Given the description of an element on the screen output the (x, y) to click on. 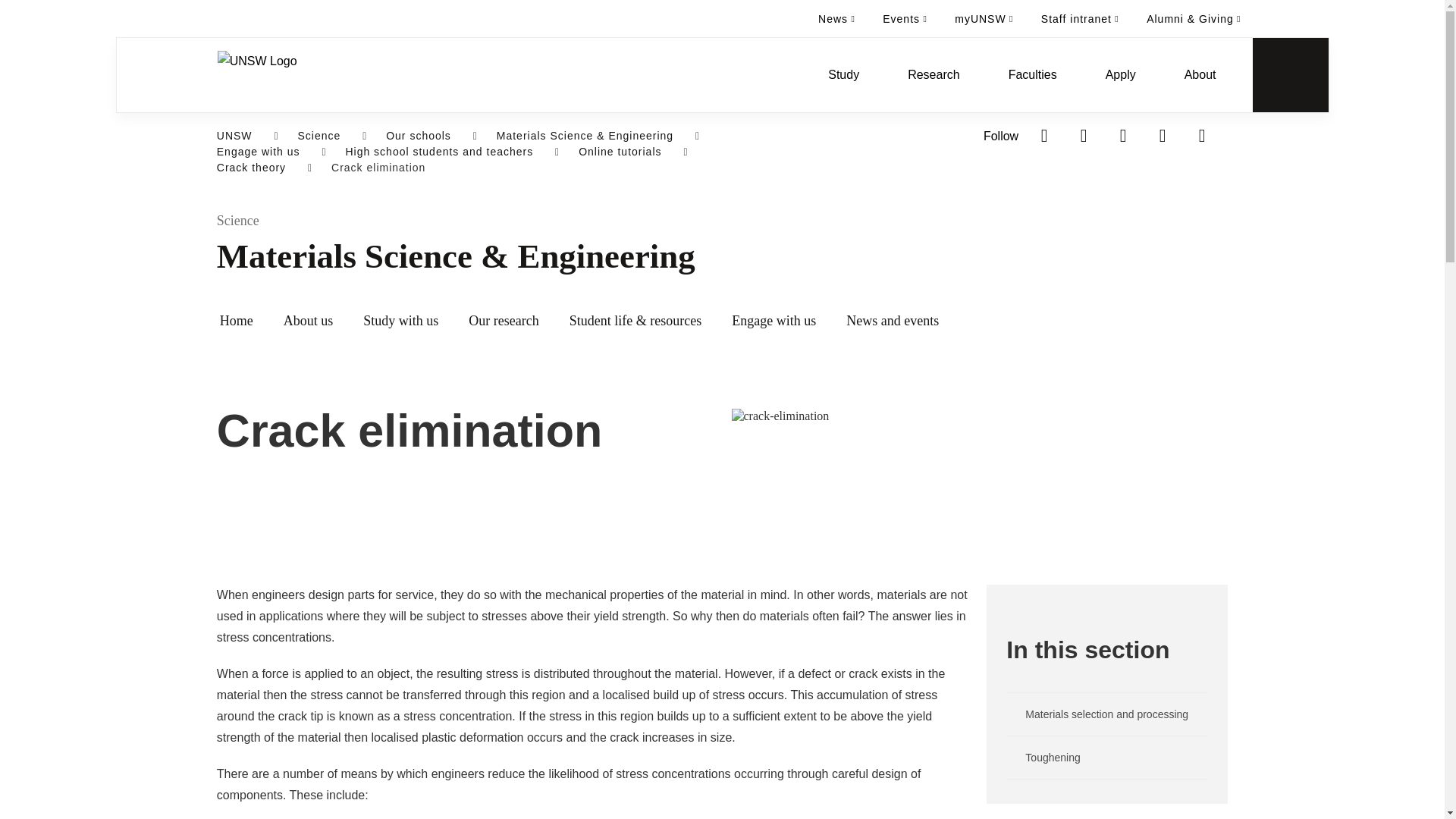
Faculties (1032, 74)
UNSW (233, 135)
Home (236, 322)
Science (772, 221)
High school students and teachers (438, 151)
About us (308, 322)
Science (318, 135)
Study (843, 74)
Apply (1120, 74)
News (836, 18)
myUNSW (983, 18)
About (1200, 74)
crack-elimination (978, 416)
Staff intranet (1080, 18)
Online tutorials (619, 151)
